Given the description of an element on the screen output the (x, y) to click on. 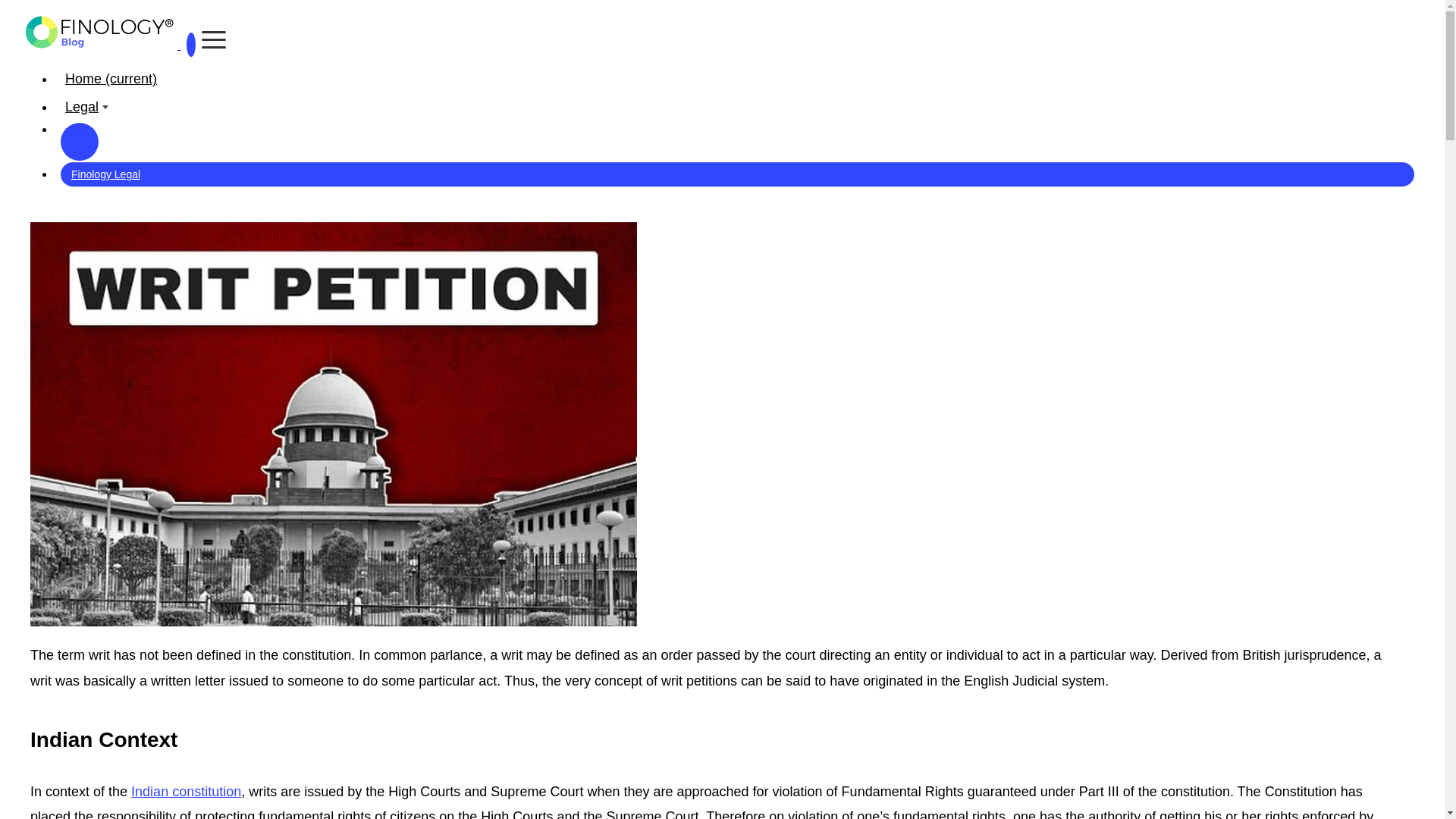
Indian constitution (186, 791)
Legal (738, 107)
Finology Legal (737, 174)
